Given the description of an element on the screen output the (x, y) to click on. 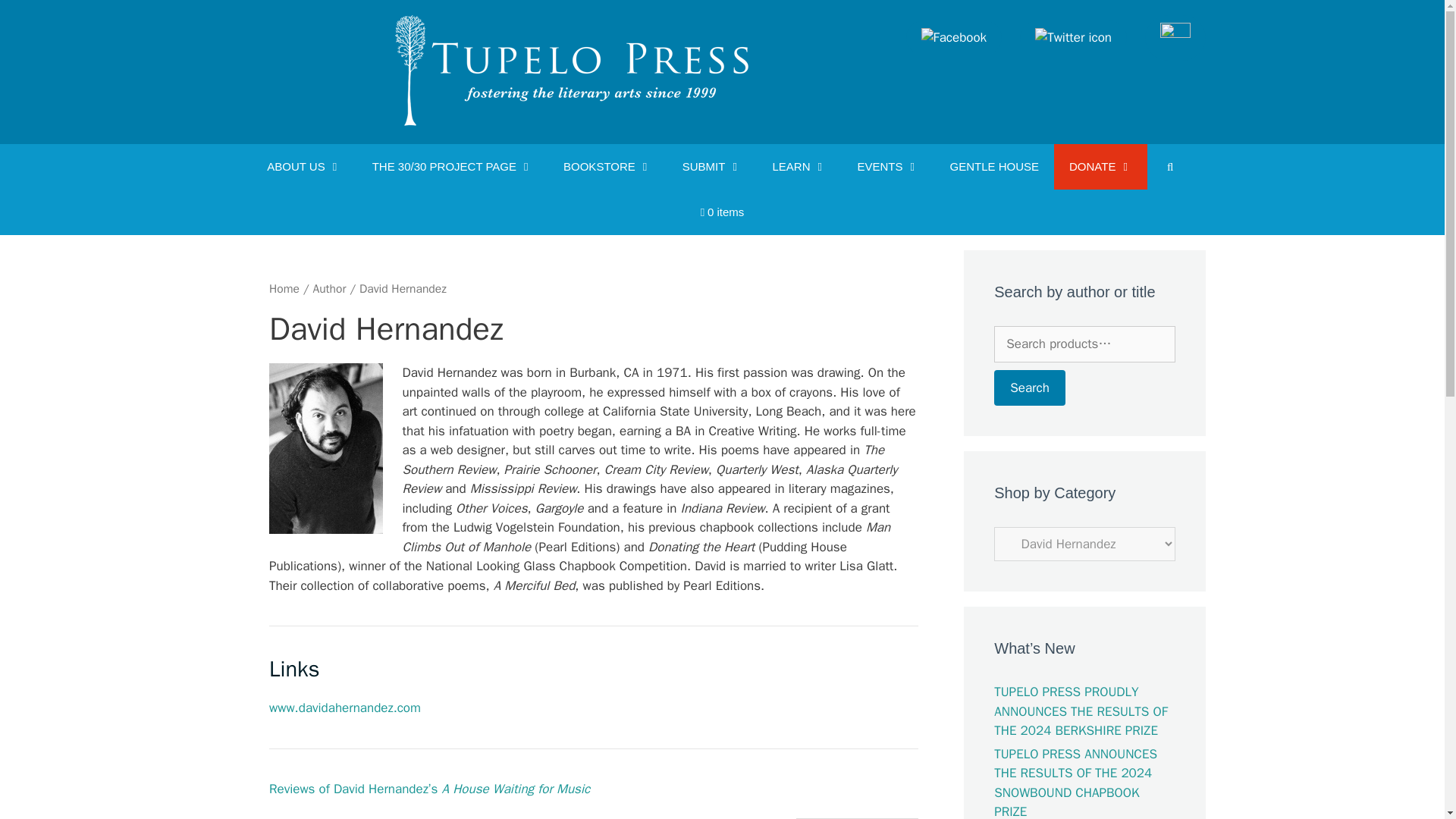
SUBMIT (711, 166)
ABOUT US (303, 166)
Start shopping (722, 212)
BOOKSTORE (607, 166)
